Given the description of an element on the screen output the (x, y) to click on. 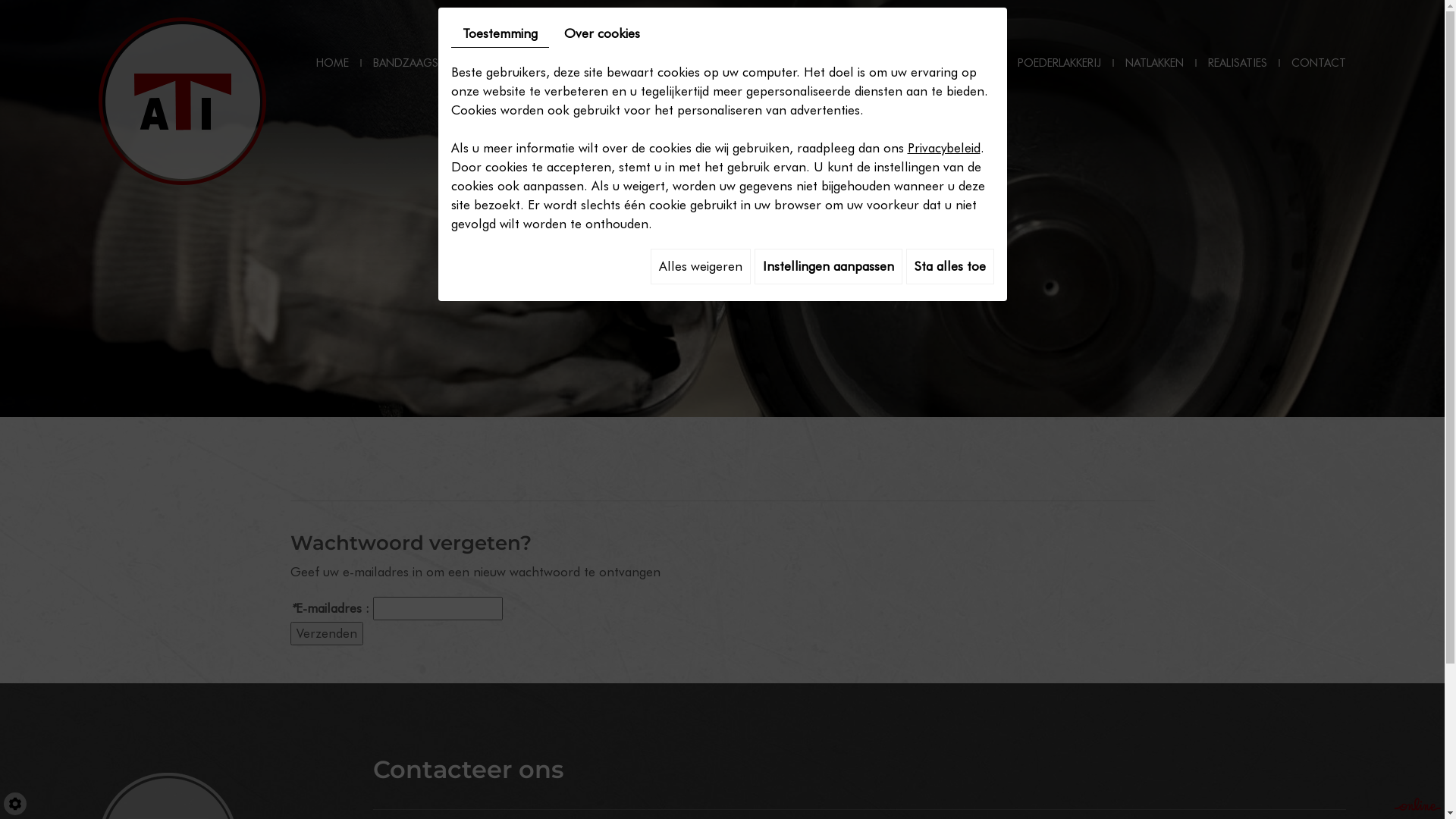
Alles weigeren Element type: text (700, 266)
SCHUREN & POLIJSTEN Element type: text (858, 63)
BANDZAAGSLIJPERIJ Element type: text (423, 63)
REALISATIES Element type: text (1237, 63)
Cookie-instelling bewerken Element type: text (14, 803)
Instellingen aanpassen Element type: text (827, 266)
POEDERLAKKERIJ Element type: text (1059, 63)
A.T.I. - Polijsttechnieken Element type: hover (182, 98)
SLIJP-EN SCHUURMATERIAAL Element type: text (570, 63)
ZAAG -EN FREESWERK Element type: text (720, 63)
Toestemming Element type: text (499, 33)
NATLAKKEN Element type: text (1154, 63)
Sta alles toe Element type: text (949, 266)
HOME Element type: text (332, 63)
WEBSHOP Element type: text (967, 63)
CONTACT Element type: text (1312, 63)
Over cookies Element type: text (601, 33)
Verzenden Element type: text (325, 633)
Privacybeleid Element type: text (942, 147)
